Given the description of an element on the screen output the (x, y) to click on. 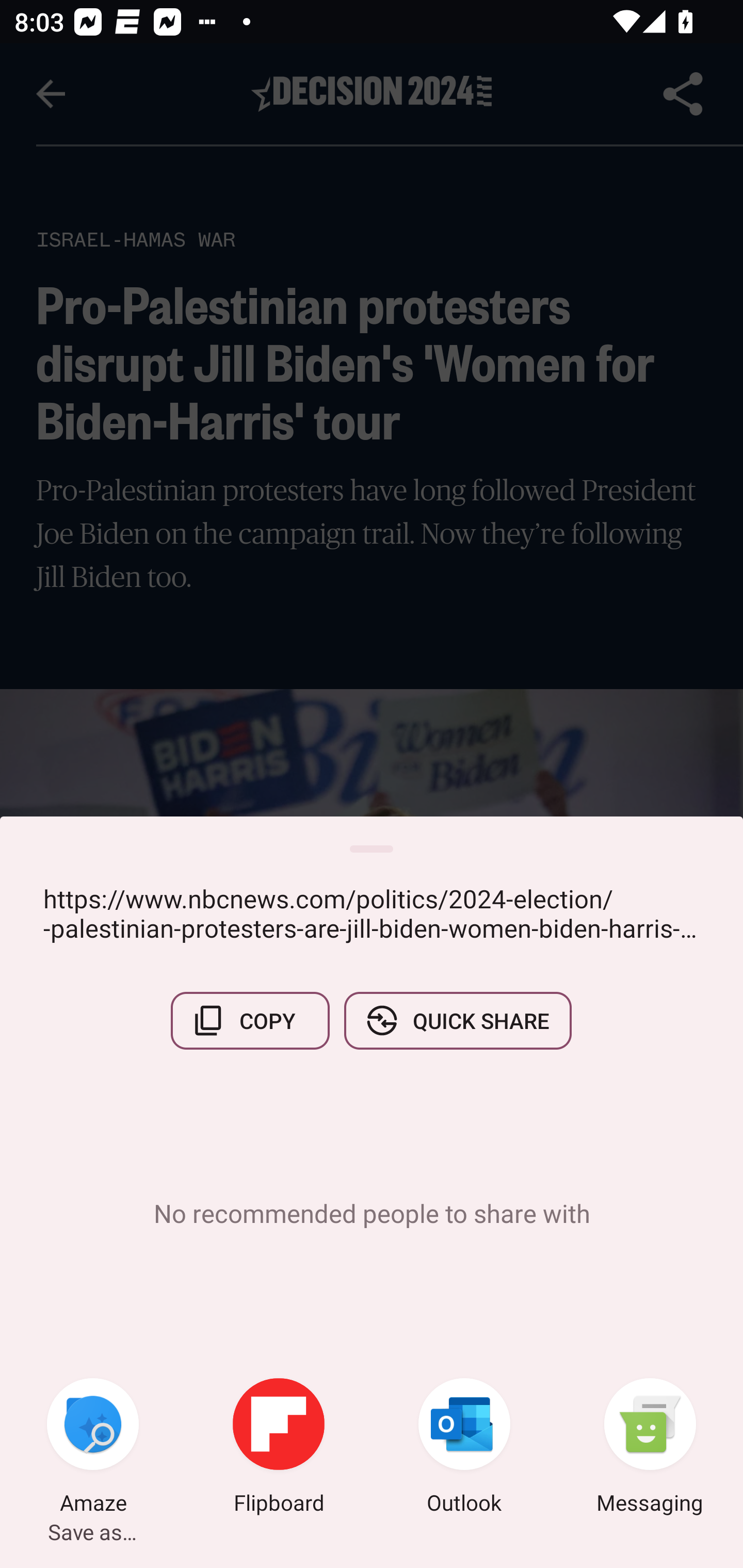
COPY (249, 1020)
QUICK SHARE (457, 1020)
Amaze Save as… (92, 1448)
Flipboard (278, 1448)
Outlook (464, 1448)
Messaging (650, 1448)
